Given the description of an element on the screen output the (x, y) to click on. 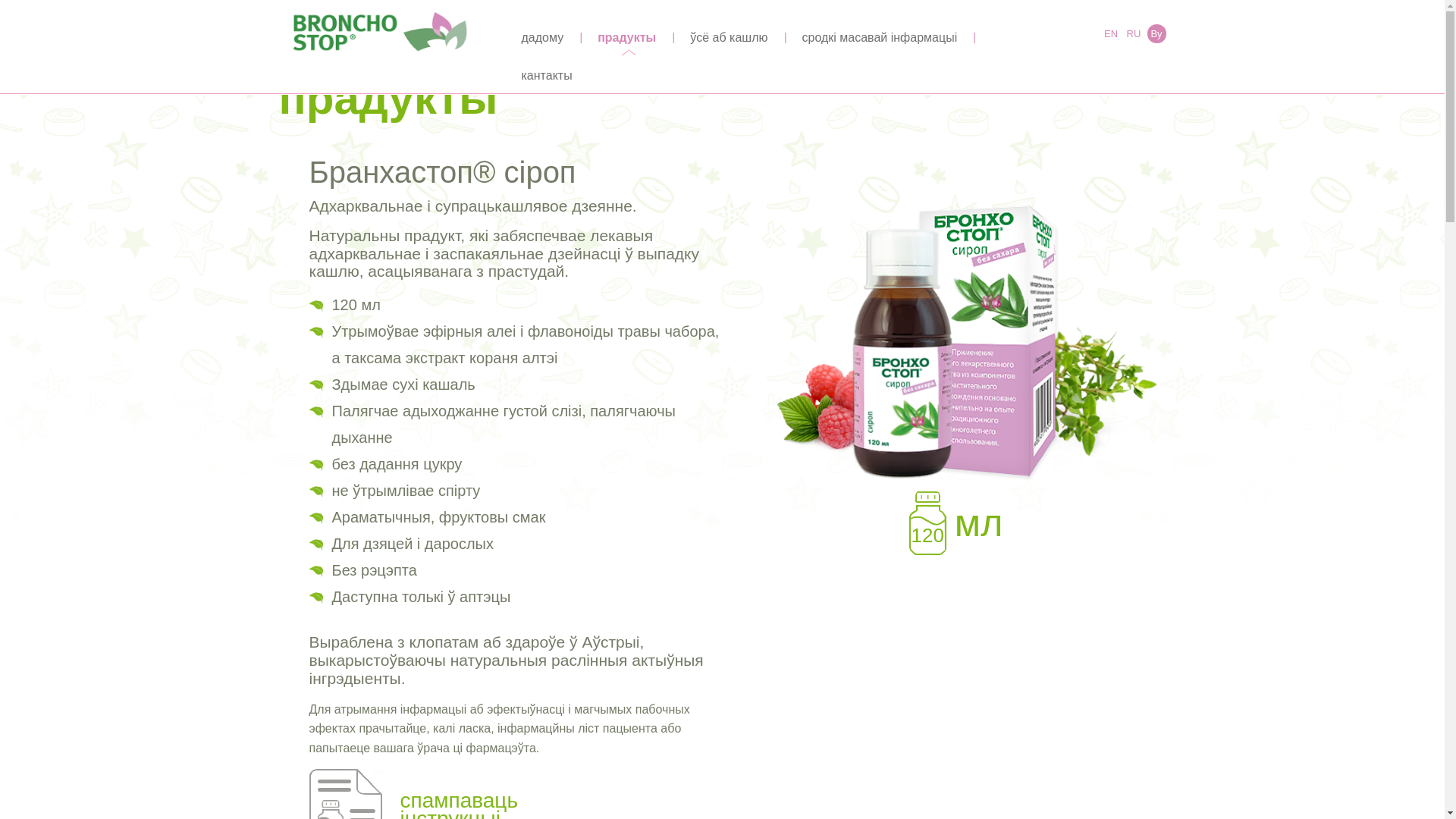
EN Element type: text (1110, 33)
RU Element type: text (1132, 33)
By Element type: text (1155, 33)
